Given the description of an element on the screen output the (x, y) to click on. 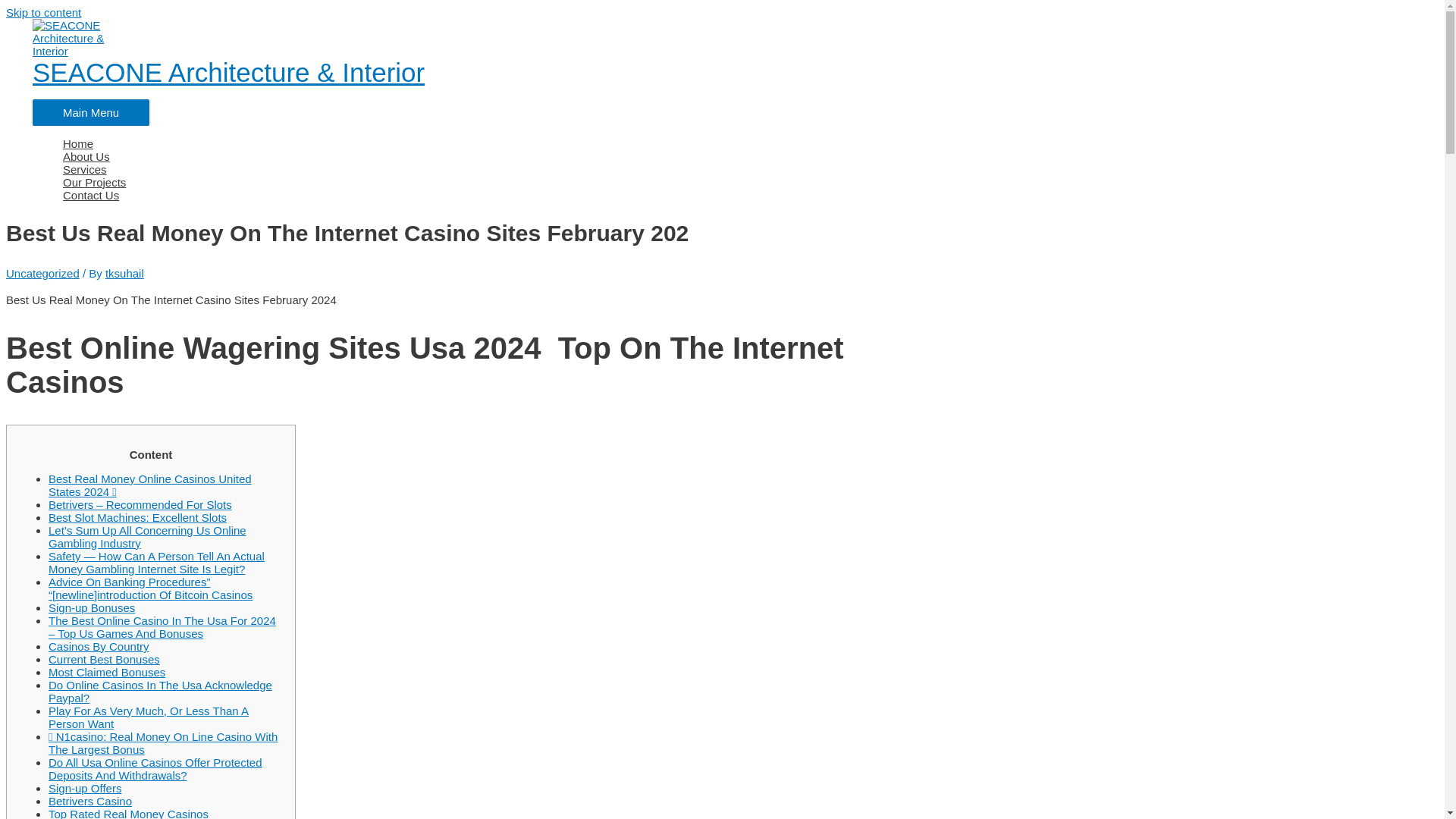
Main Menu (90, 112)
Most Claimed Bonuses (106, 671)
Current Best Bonuses (104, 658)
Top Rated Real Money Casinos (128, 813)
Uncategorized (42, 273)
Betrivers Casino (90, 800)
Do Online Casinos In The Usa Acknowledge Paypal? (160, 691)
Sign-up Bonuses (91, 607)
Best Slot Machines: Excellent Slots (137, 517)
Play For As Very Much, Or Less Than A Person Want (148, 717)
